Given the description of an element on the screen output the (x, y) to click on. 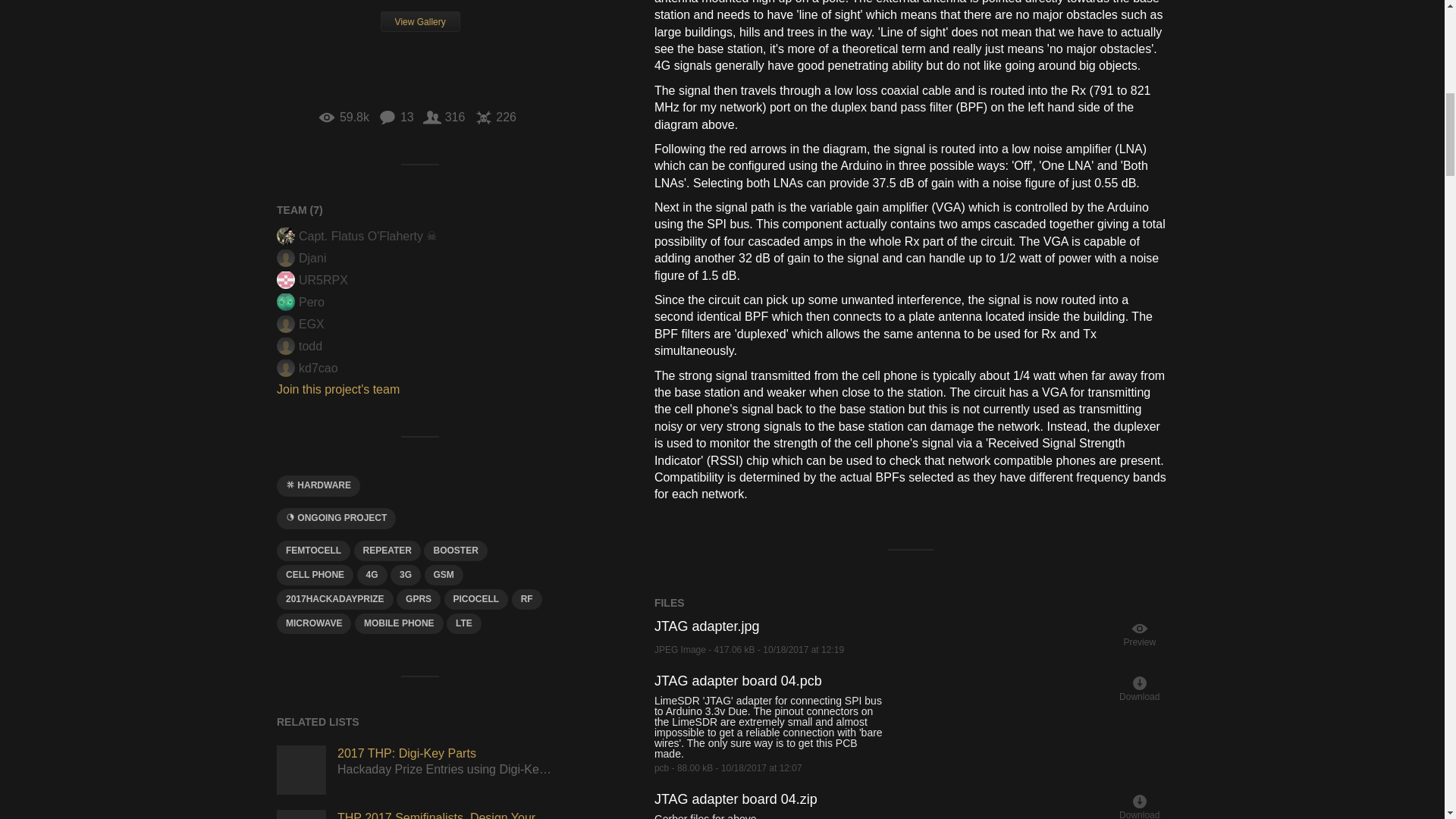
View Count (343, 116)
2017 THP: Digi-Key Parts (301, 769)
Comments (395, 116)
Followers (443, 116)
Likes (495, 116)
THP 2017 Semifinalists, Design Your Concept (301, 814)
